Given the description of an element on the screen output the (x, y) to click on. 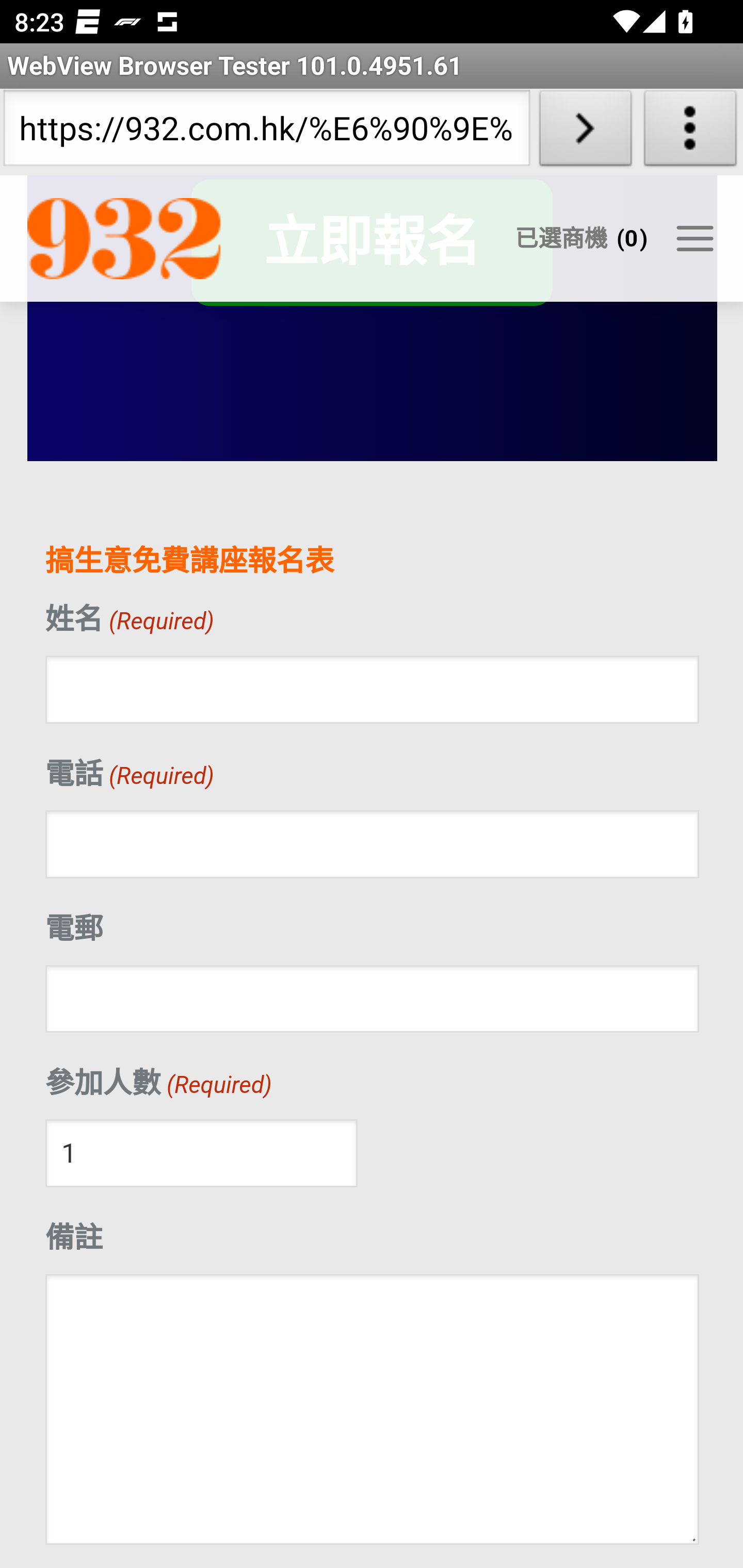
Load URL (585, 132)
About WebView (690, 132)
立即報名 (370, 243)
1, 參加人數(Required) (200, 1154)
